Given the description of an element on the screen output the (x, y) to click on. 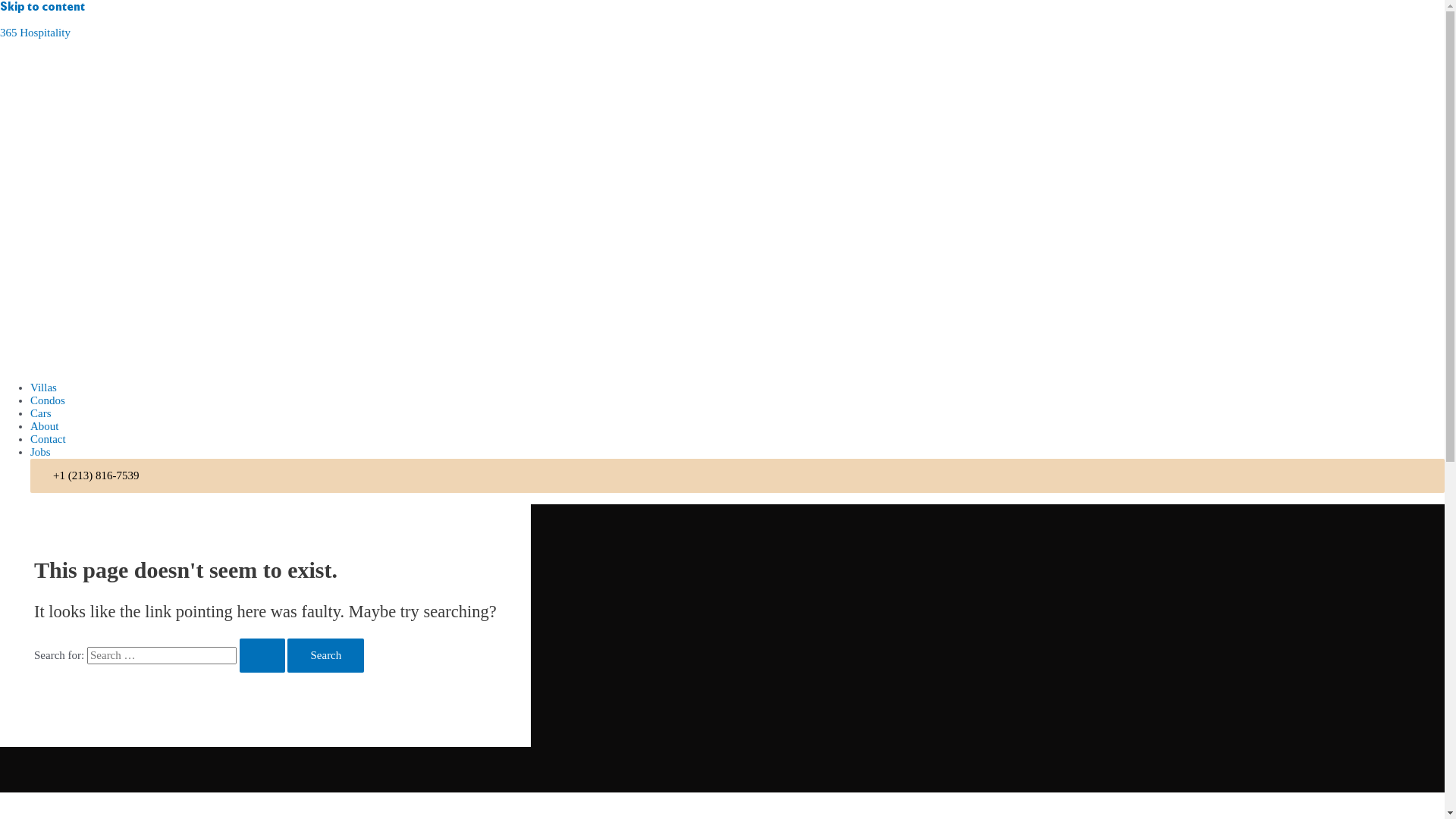
365 Hospitality Element type: text (35, 32)
+1 (213) 816-7539 Element type: text (95, 475)
Contact Element type: text (47, 439)
Cars Element type: text (40, 413)
Search Element type: text (325, 655)
About Element type: text (44, 426)
Villas Element type: text (43, 387)
Skip to content Element type: text (42, 6)
Jobs Element type: text (40, 451)
Condos Element type: text (47, 400)
